Given the description of an element on the screen output the (x, y) to click on. 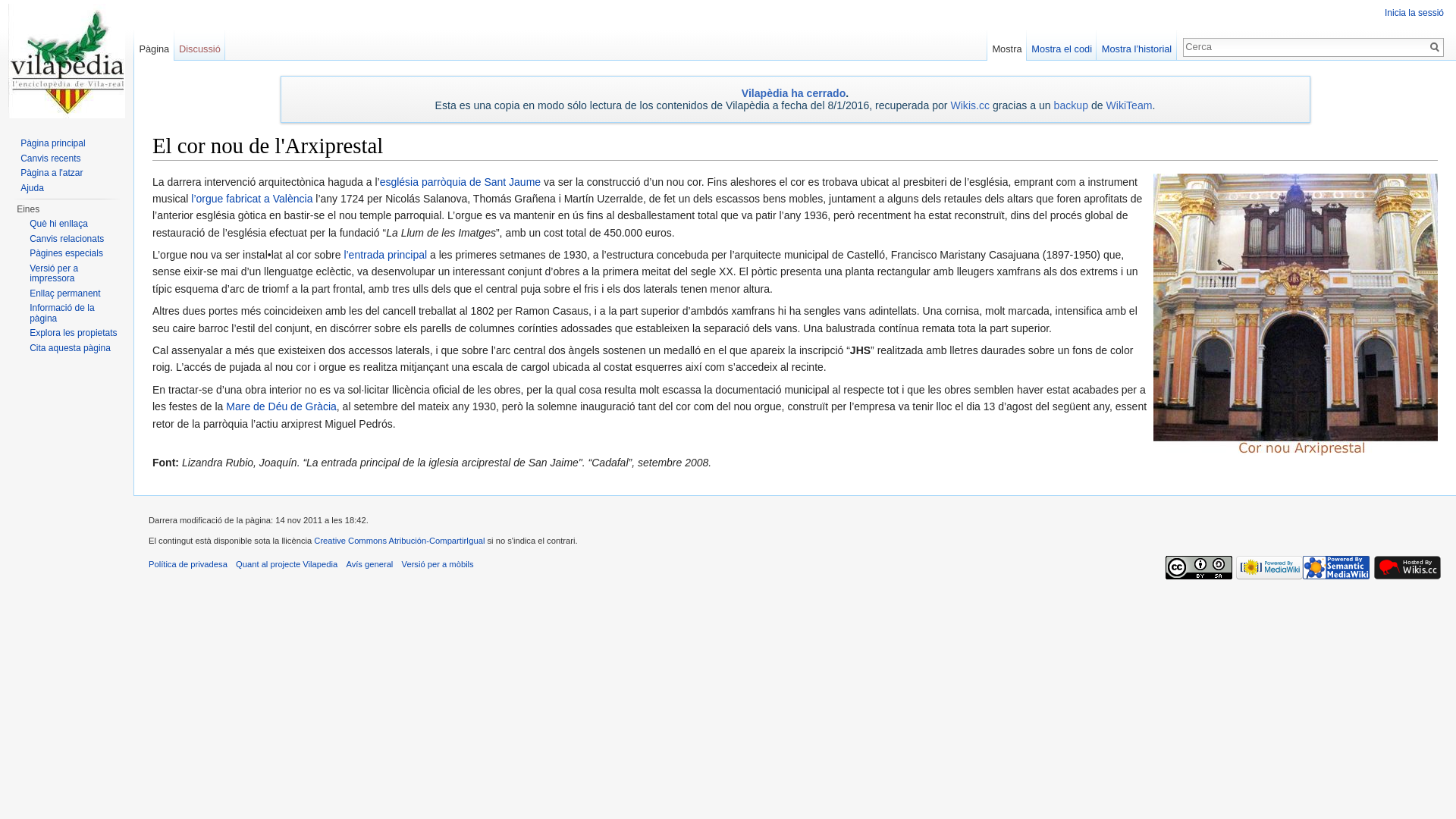
Cerca a Vilapedia [alt-shift-f] Element type: hover (1304, 45)
backup Element type: text (1071, 105)
Quant al projecte Vilapedia Element type: text (286, 563)
Mostra el codi Element type: text (1061, 45)
Wikis.cc Element type: text (969, 105)
WikiTeam Element type: text (1128, 105)
Explora les propietats Element type: text (72, 332)
Mostra Element type: text (1006, 45)
Canvis recents Element type: text (50, 158)
Canvis relacionats Element type: text (66, 238)
Ajuda Element type: text (31, 187)
